Given the description of an element on the screen output the (x, y) to click on. 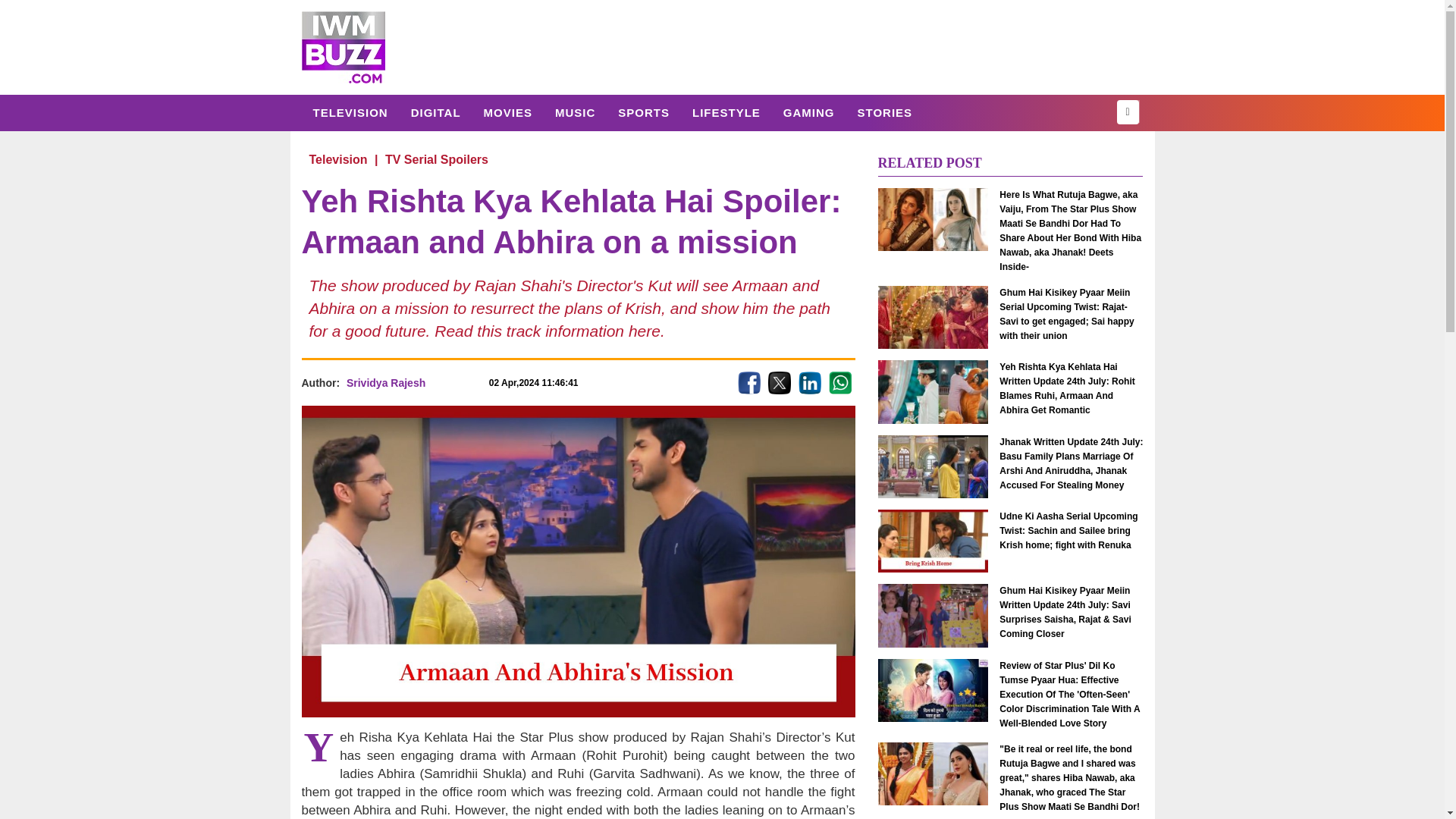
Television (349, 112)
LIFESTYLE (726, 112)
SPORTS (644, 112)
MOVIES (507, 112)
Gaming (808, 112)
Movies (507, 112)
DIGITAL (434, 112)
Lifestyle (726, 112)
